Given the description of an element on the screen output the (x, y) to click on. 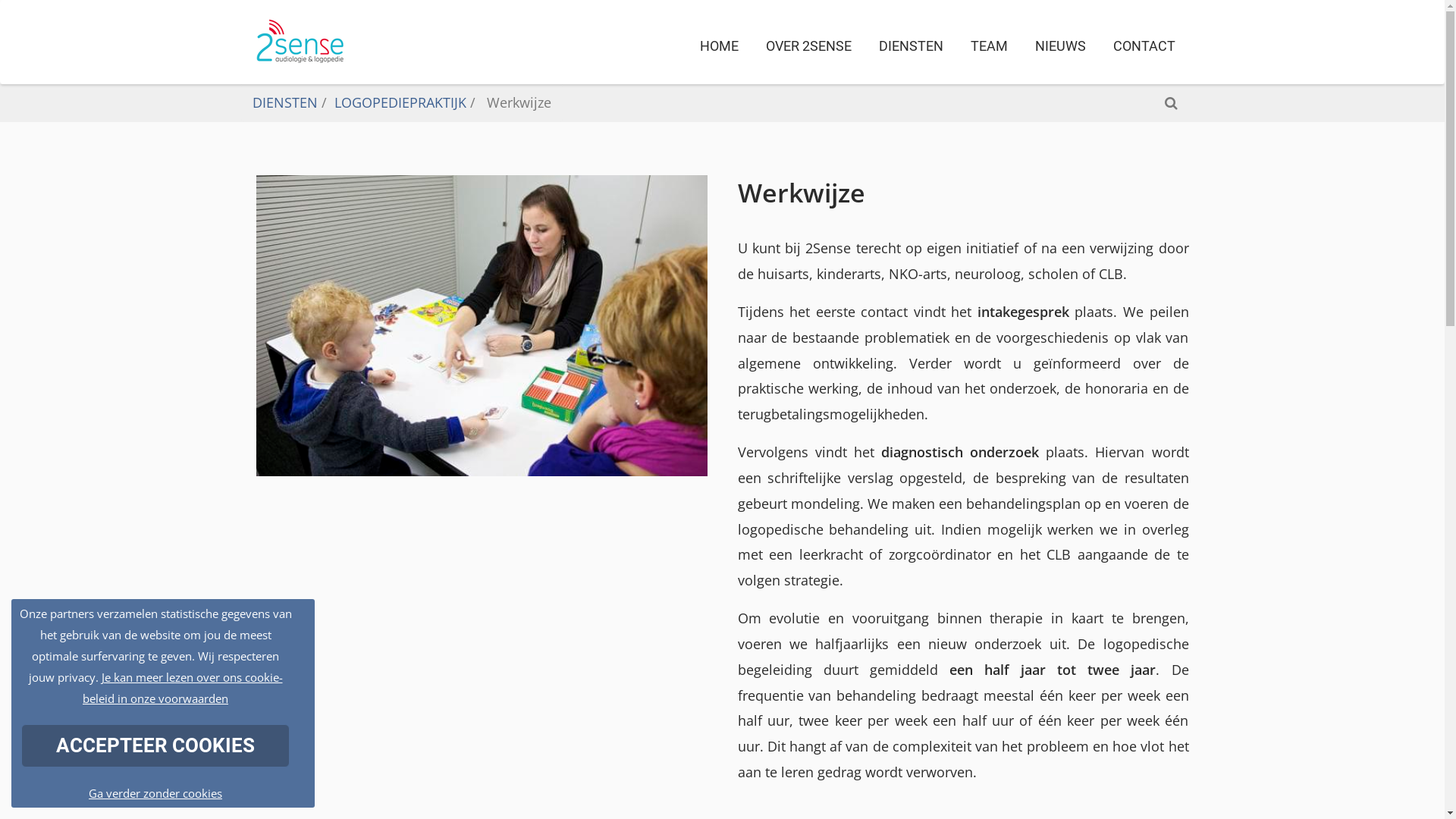
LOGOPEDIEPRAKTIJK Element type: text (399, 102)
TEAM Element type: text (989, 45)
OVER 2SENSE Element type: text (808, 45)
Je kan meer lezen over ons cookie-beleid in onze voorwaarden Element type: text (182, 687)
Ga verder zonder cookies Element type: text (155, 792)
ACCEPTEER COOKIES Element type: text (155, 745)
CONTACT Element type: text (1144, 45)
HOME Element type: text (718, 45)
NIEUWS Element type: text (1059, 45)
DIENSTEN Element type: text (910, 45)
DIENSTEN Element type: text (283, 102)
